Given the description of an element on the screen output the (x, y) to click on. 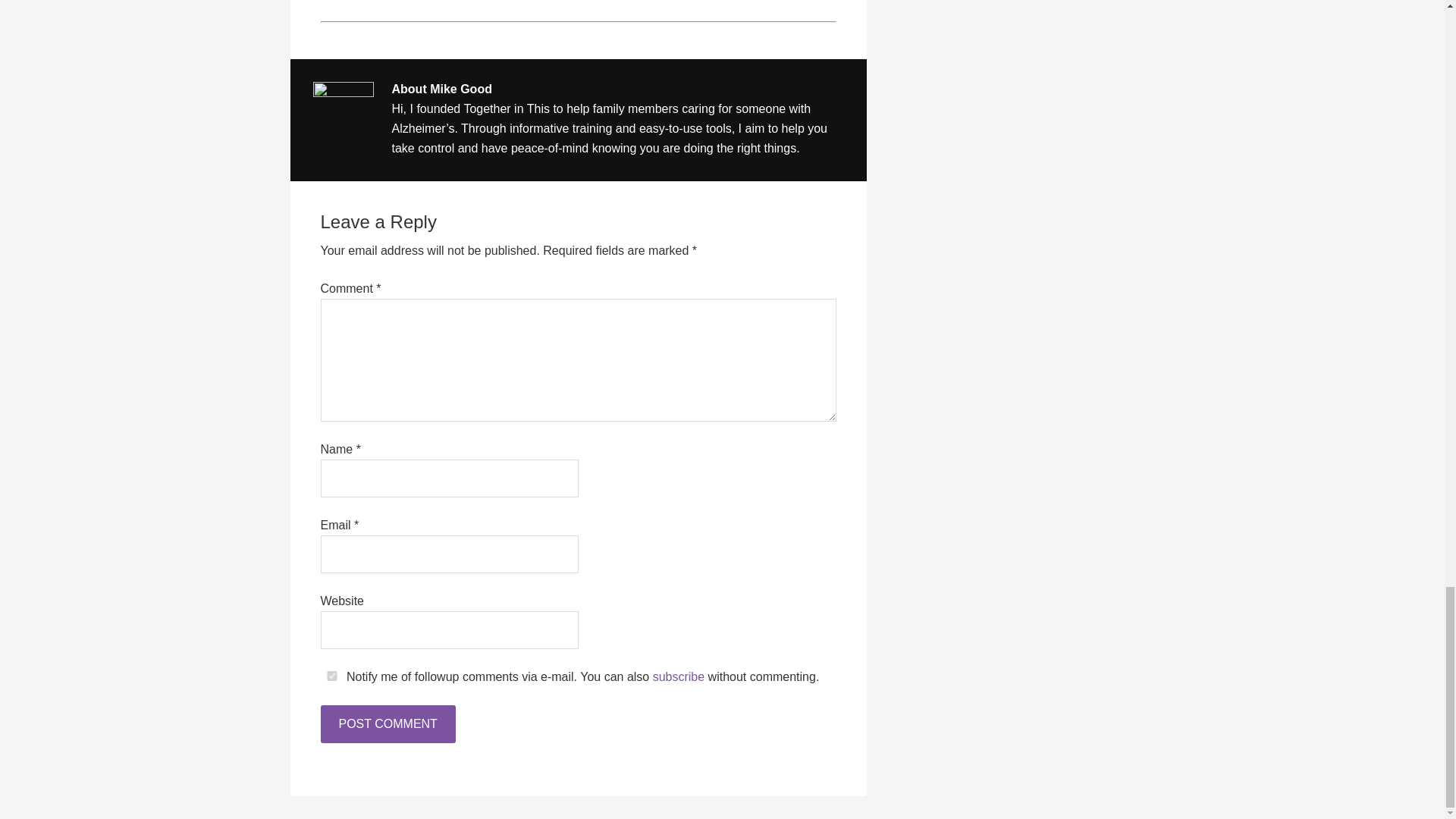
Post Comment (387, 723)
yes (331, 675)
